Given the description of an element on the screen output the (x, y) to click on. 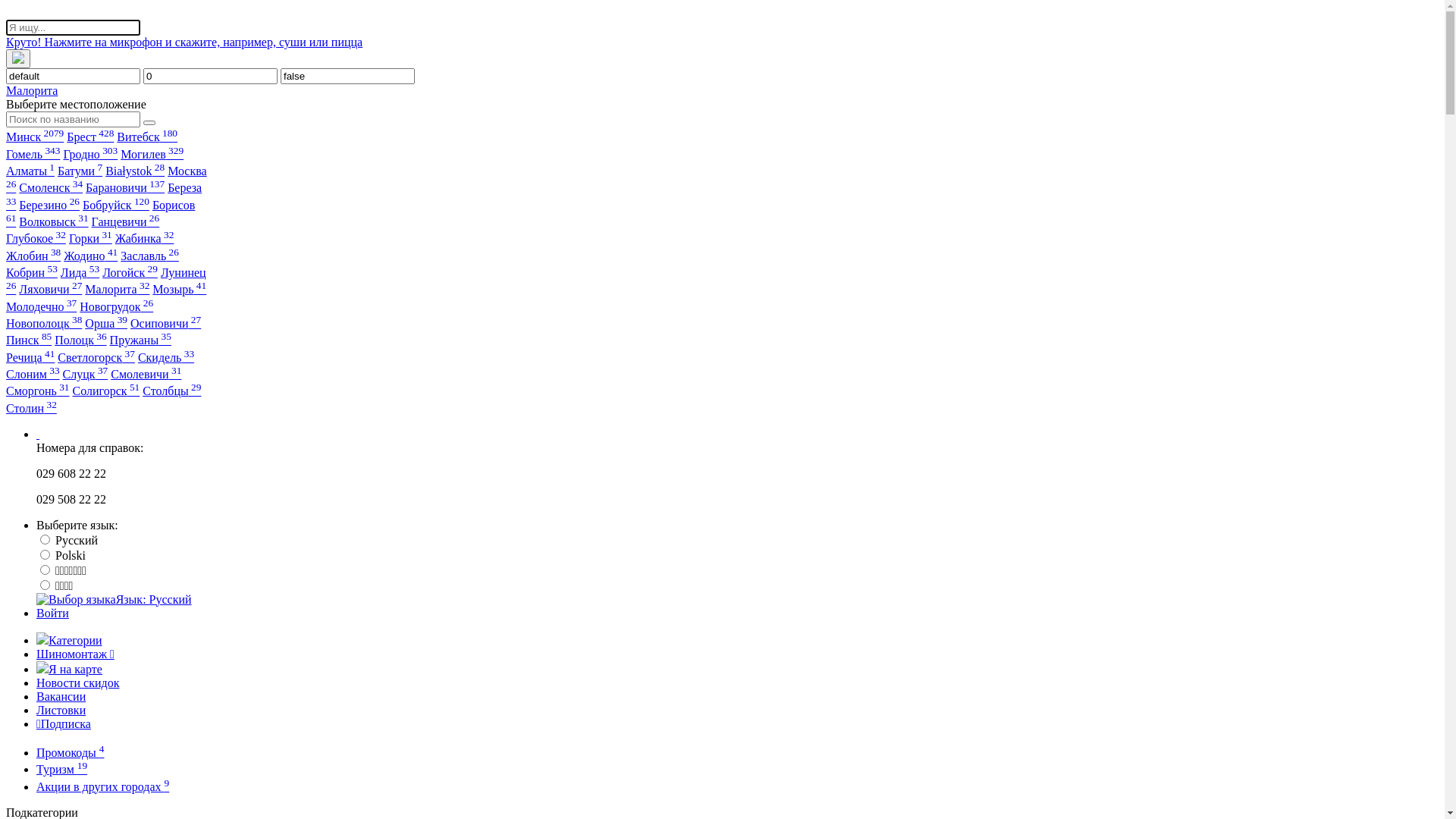
  Element type: text (37, 433)
